Given the description of an element on the screen output the (x, y) to click on. 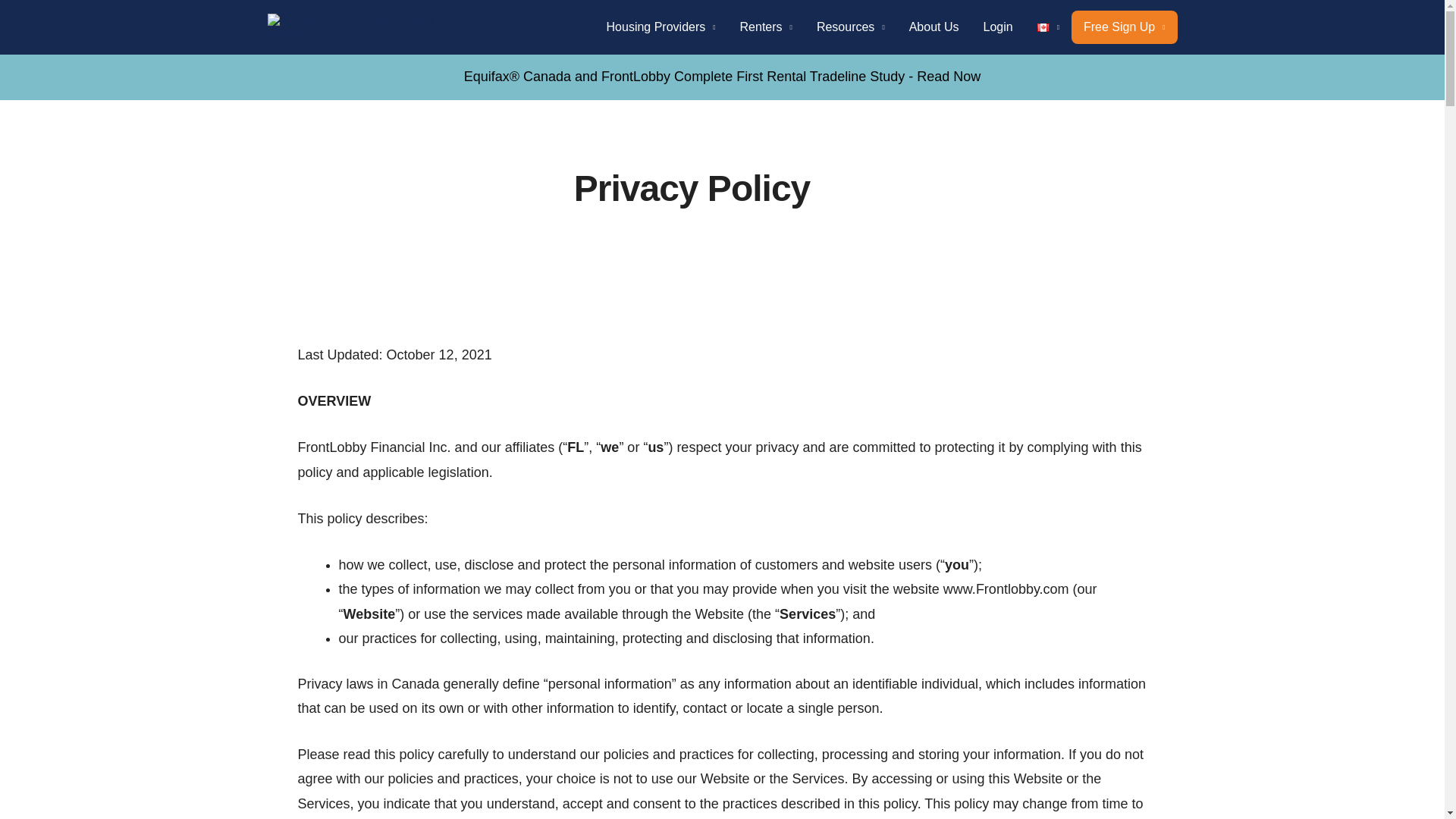
Resources (850, 27)
Login (998, 27)
Free Sign Up (1124, 27)
About Us (933, 27)
Housing Providers (661, 27)
Renters (766, 27)
